Given the description of an element on the screen output the (x, y) to click on. 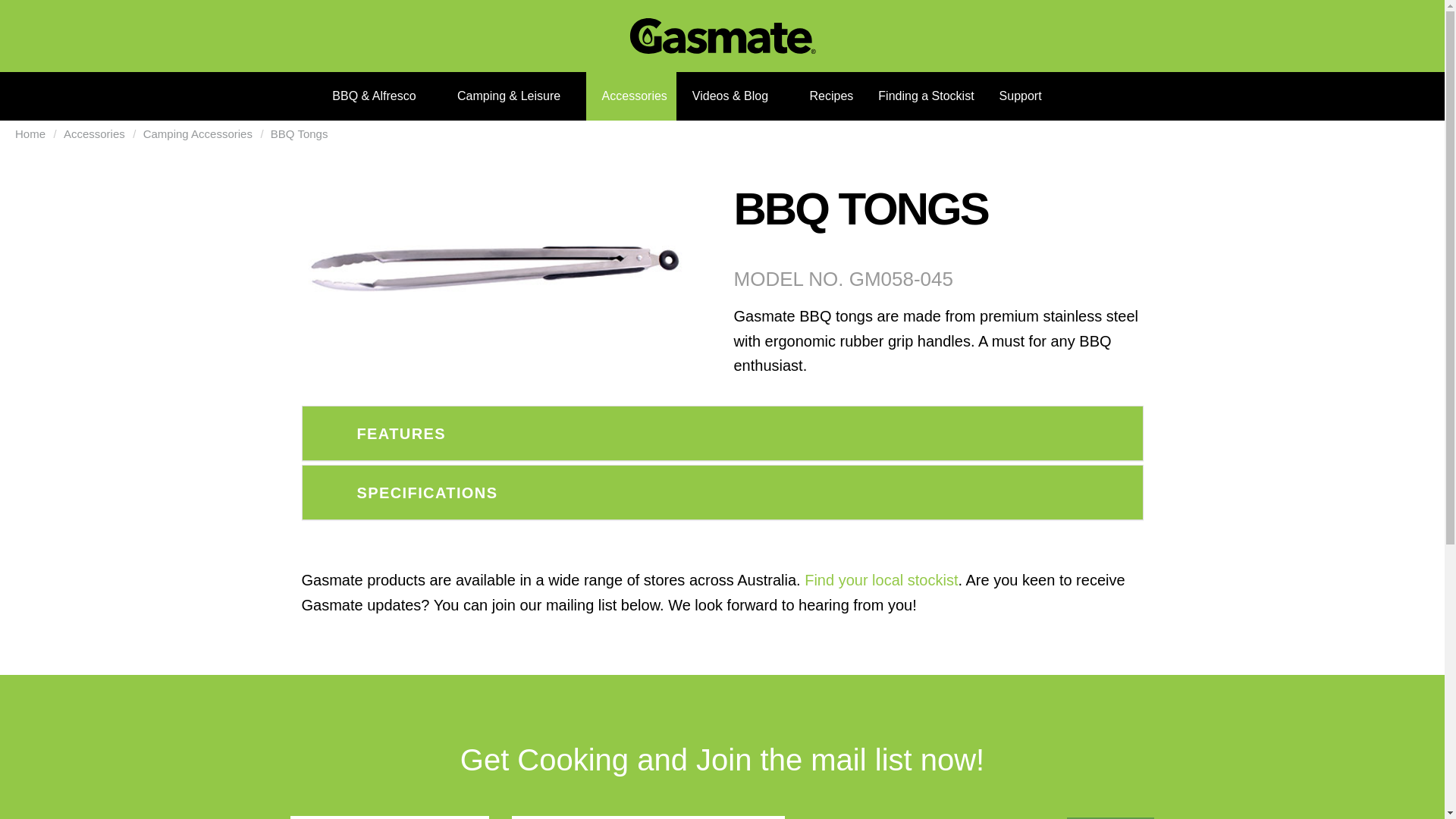
Support (1017, 96)
Finding a Stockist (921, 96)
Recipes (827, 96)
Join (1110, 818)
Accessories (631, 96)
